Given the description of an element on the screen output the (x, y) to click on. 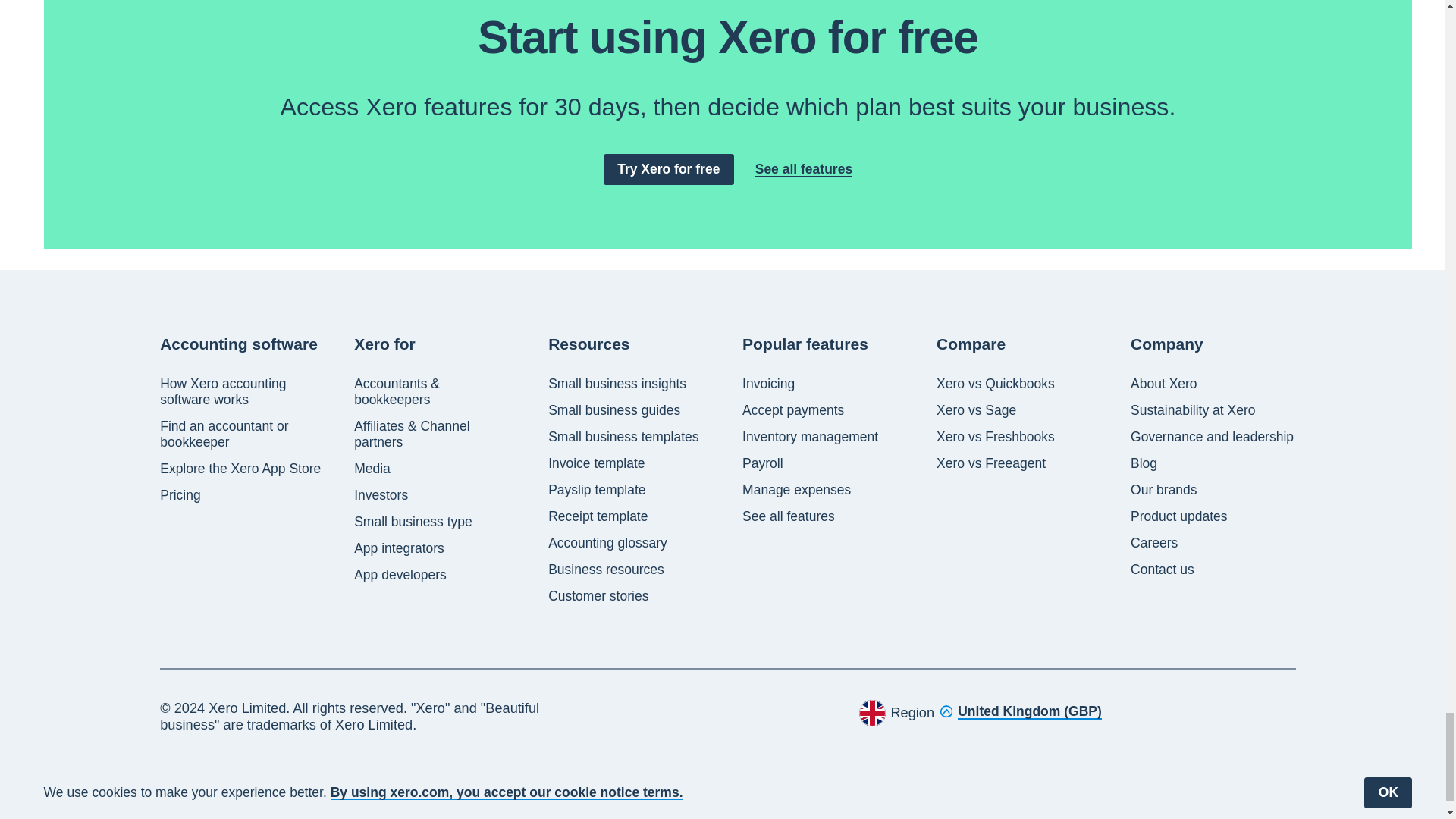
Find an accountant or bookkeeper (242, 434)
How Xero accounting software works (242, 391)
Try Xero for free (668, 169)
Explore the Xero App Store (240, 468)
See all features (803, 169)
